Given the description of an element on the screen output the (x, y) to click on. 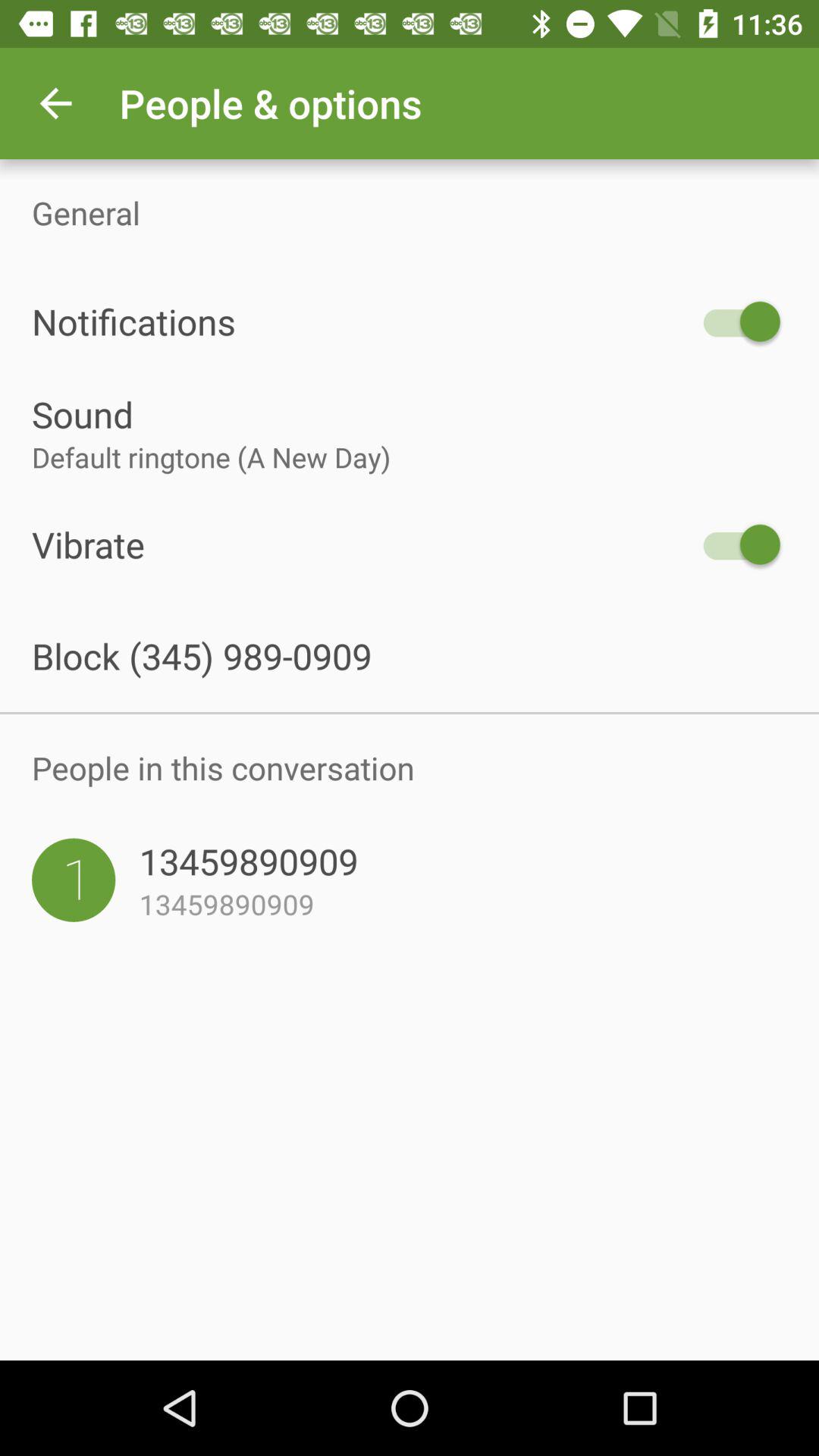
flip until general icon (409, 212)
